Given the description of an element on the screen output the (x, y) to click on. 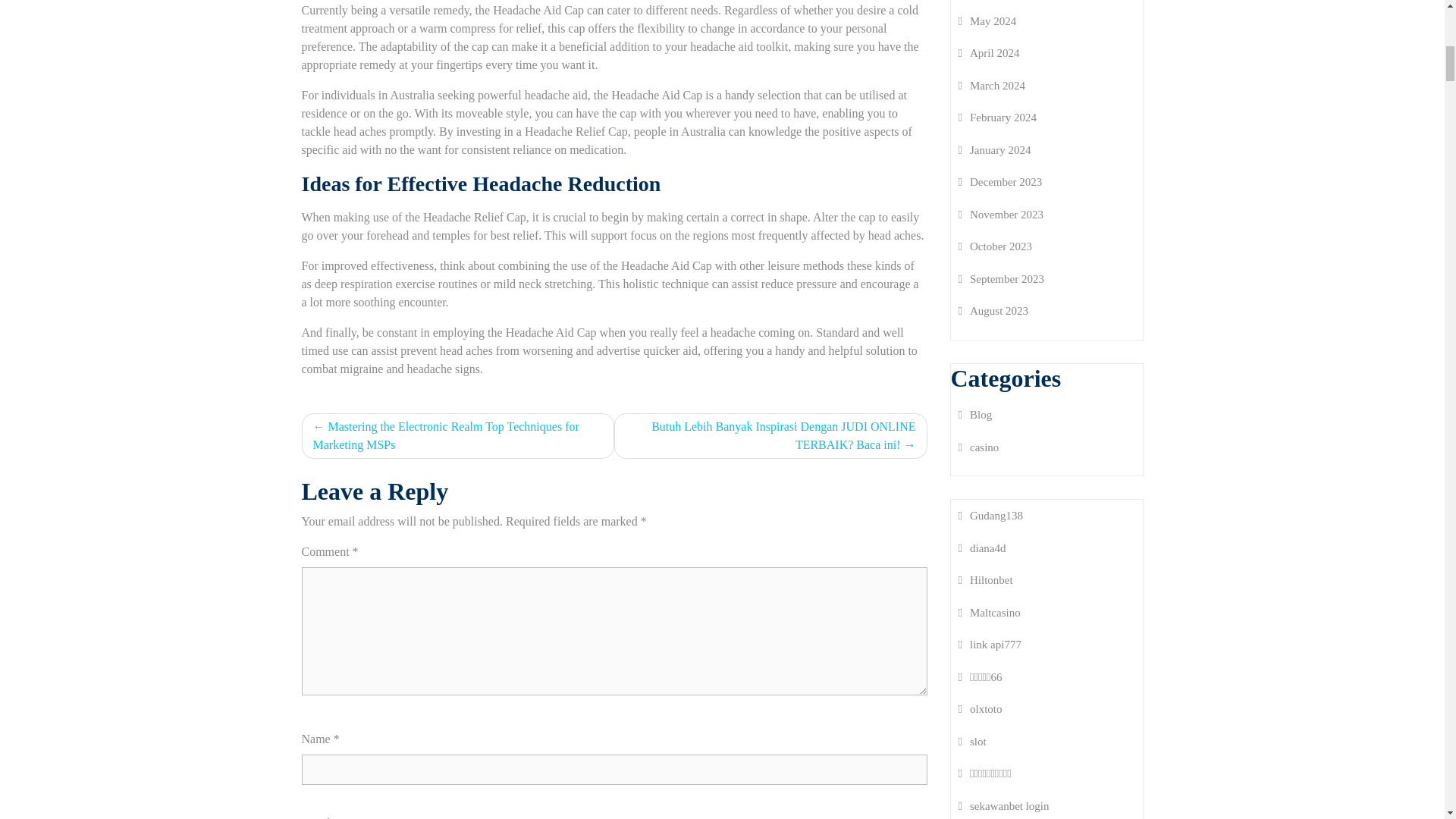
August 2023 (993, 310)
Hiltonbet (985, 580)
Gudang138 (990, 515)
February 2024 (997, 117)
May 2024 (987, 21)
slot (972, 741)
November 2023 (1000, 214)
casino (978, 447)
link api777 (990, 644)
December 2023 (1000, 182)
Blog (975, 414)
October 2023 (995, 246)
March 2024 (991, 85)
